Given the description of an element on the screen output the (x, y) to click on. 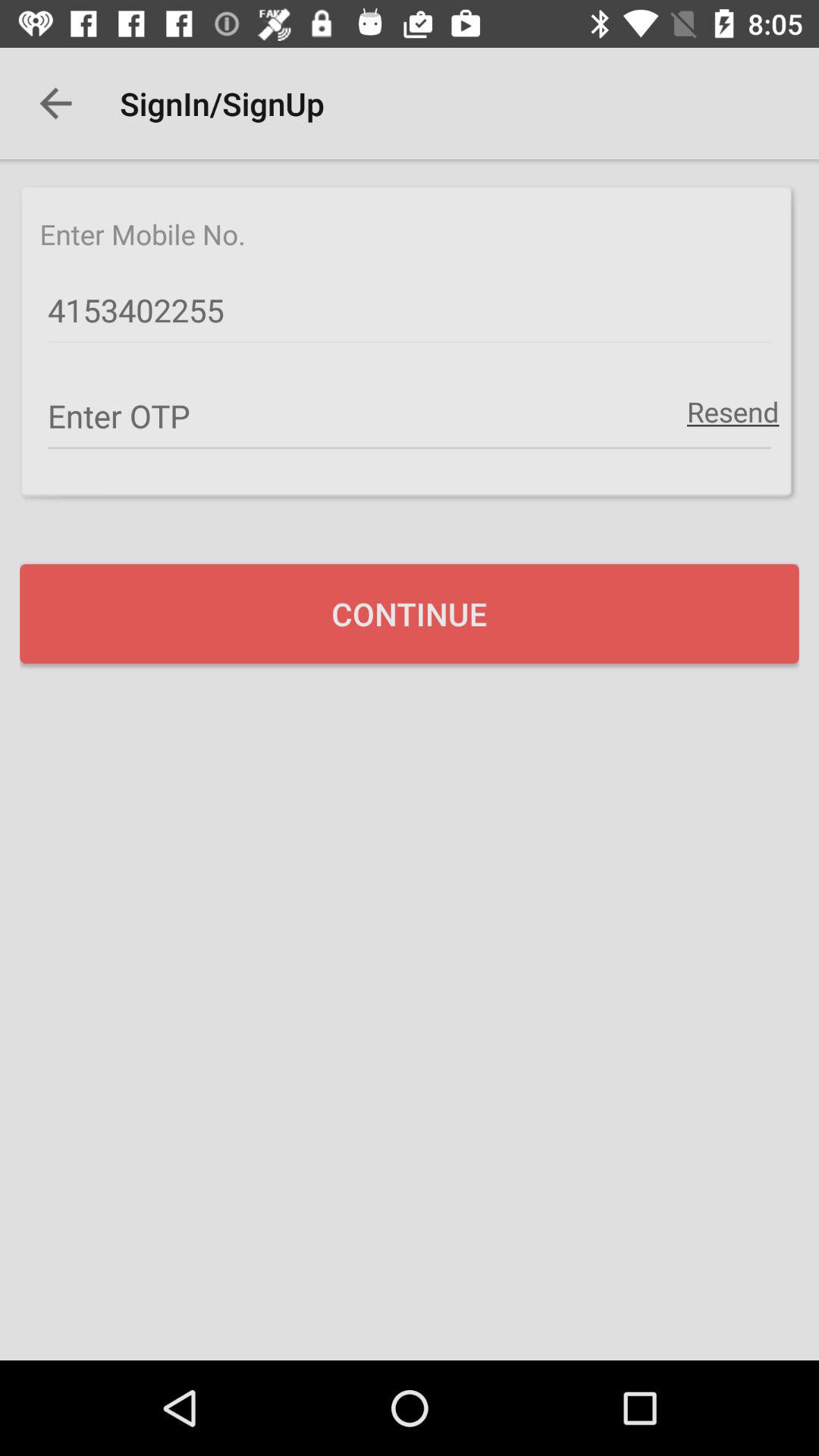
tap the item below the enter mobile no. (409, 310)
